Given the description of an element on the screen output the (x, y) to click on. 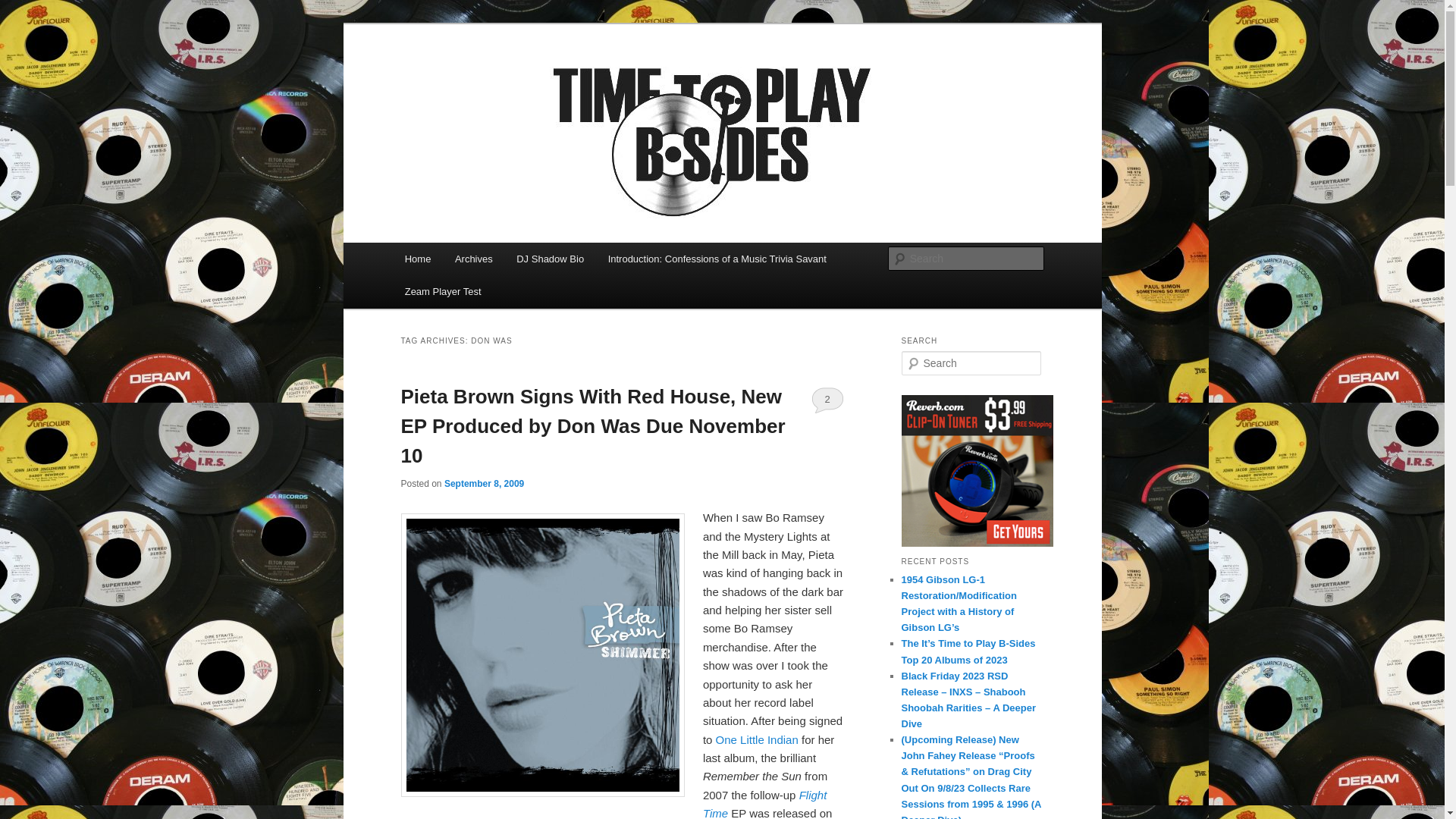
4:47 pm (484, 483)
Zeam Player Test (443, 291)
DJ Shadow Bio (549, 258)
Search (24, 8)
2 (827, 399)
One Little Indian (759, 739)
Time to play b-sides (509, 78)
September 8, 2009 (484, 483)
